Given the description of an element on the screen output the (x, y) to click on. 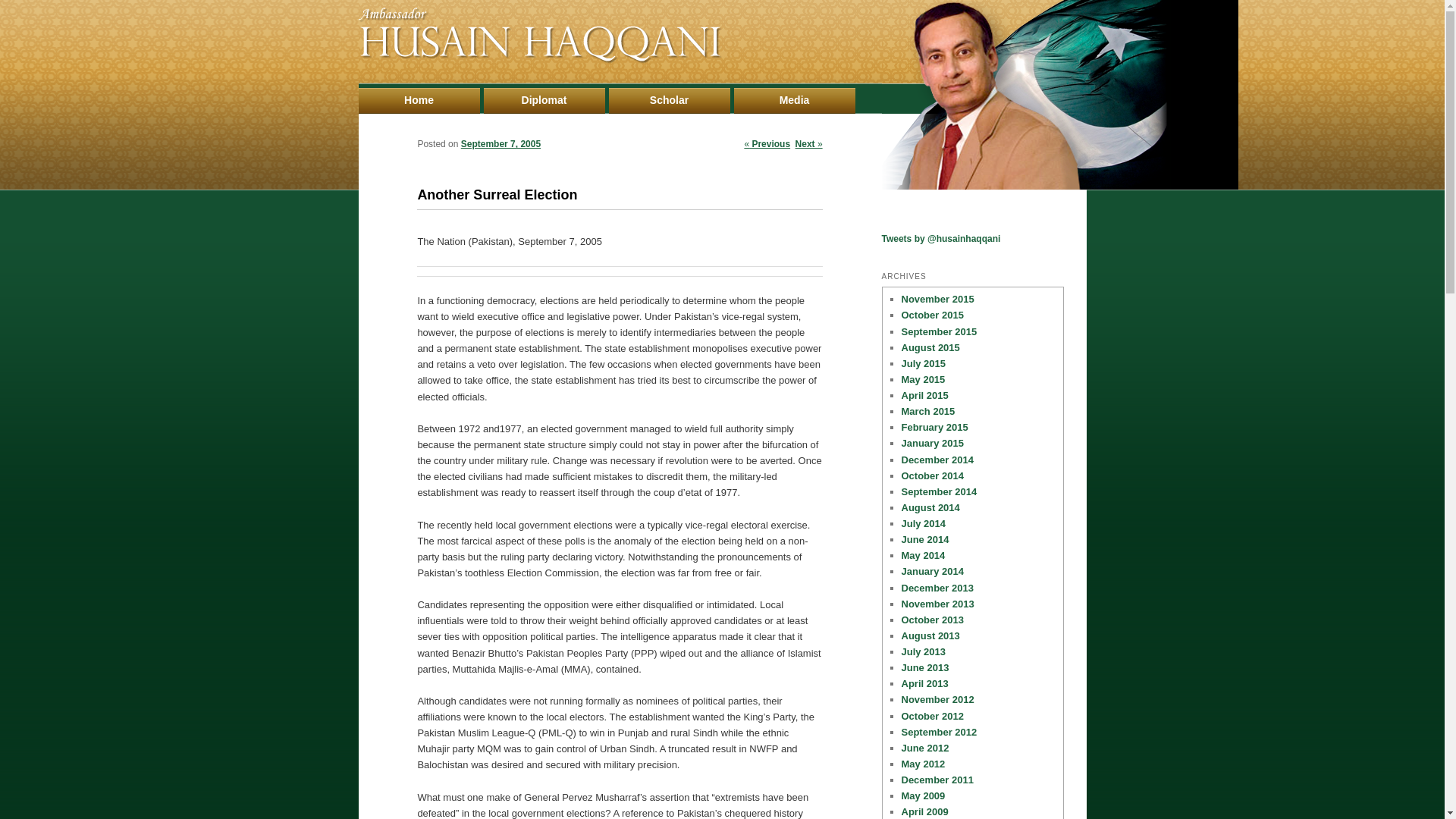
July 2014 (922, 523)
Husain Haqqani (539, 59)
Media (794, 99)
August 2014 (930, 507)
January 2014 (931, 571)
June 2014 (925, 539)
May 2014 (922, 555)
January 2015 (931, 442)
December 2014 (936, 460)
October 2015 (931, 315)
July 2013 (922, 651)
March 2015 (928, 410)
Home (418, 99)
11:59 pm (500, 143)
December 2013 (936, 587)
